Given the description of an element on the screen output the (x, y) to click on. 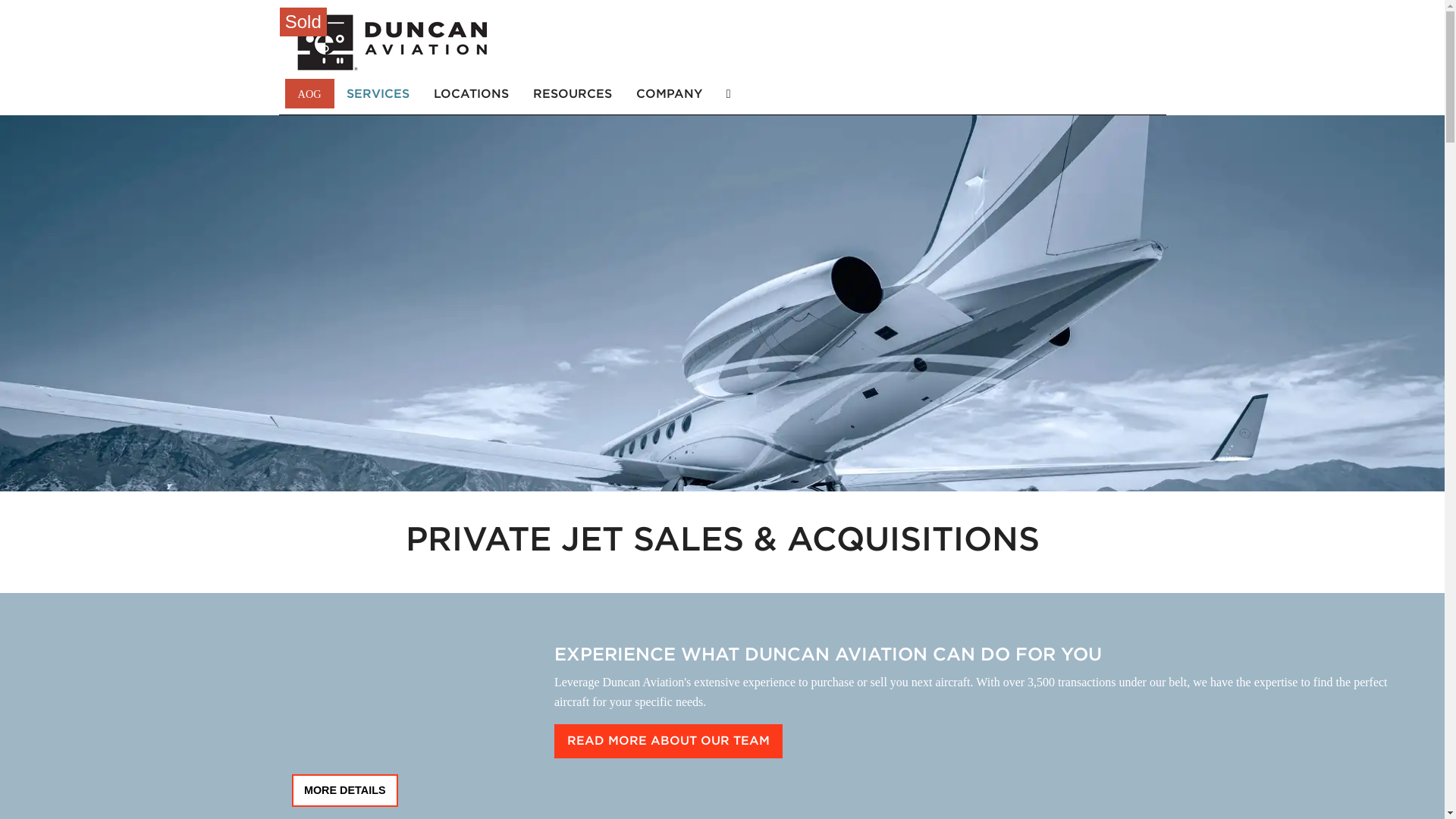
READ MORE ABOUT OUR TEAM (668, 740)
AOG (309, 93)
LOCATIONS (471, 92)
SERVICES (378, 92)
COMPANY (669, 92)
RESOURCES (572, 92)
MORE DETAILS (344, 789)
